Given the description of an element on the screen output the (x, y) to click on. 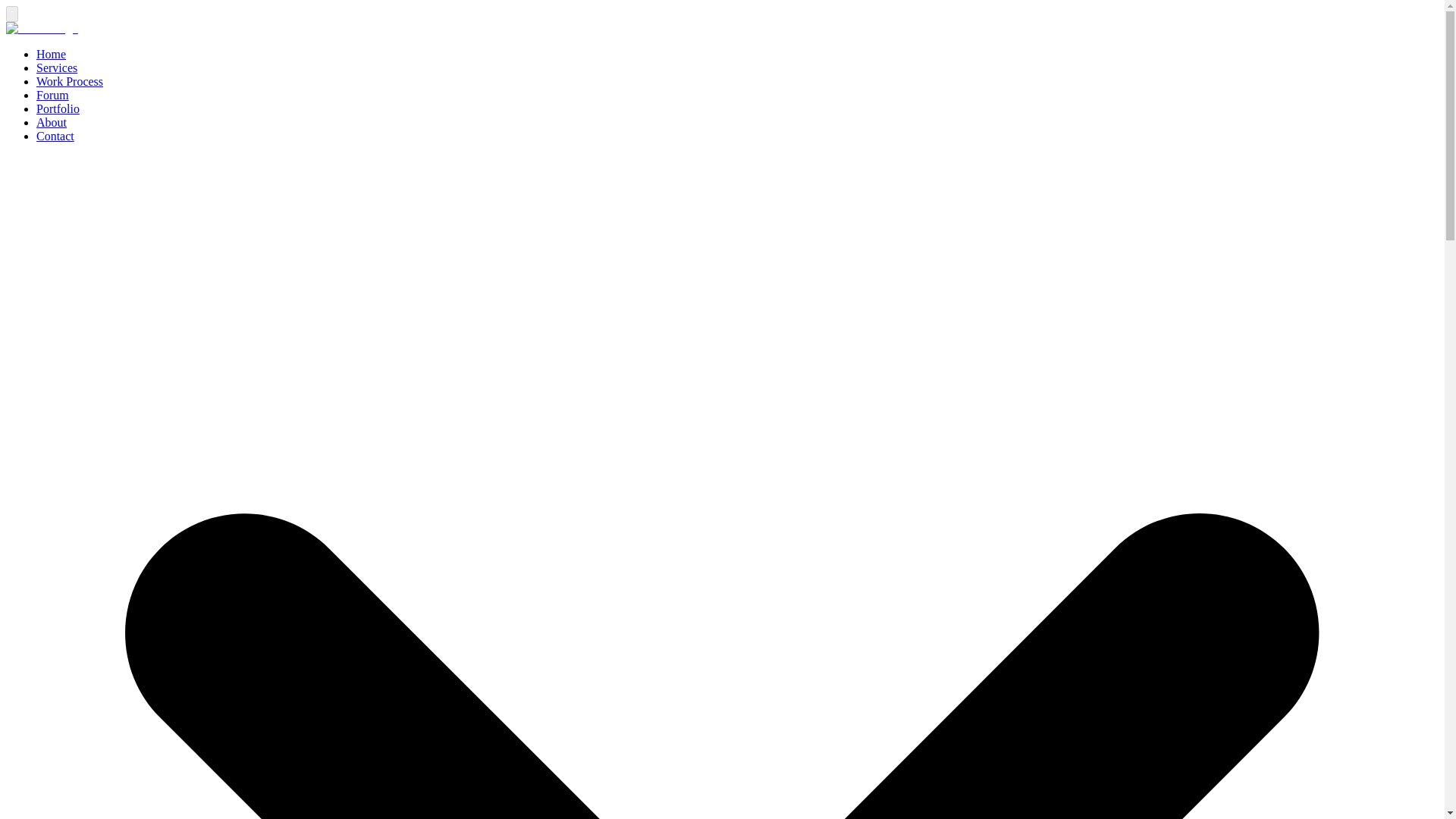
Work Process (69, 81)
Forum (52, 94)
Portfolio (58, 108)
Services (56, 67)
About (51, 122)
Home (50, 53)
Contact (55, 135)
